Given the description of an element on the screen output the (x, y) to click on. 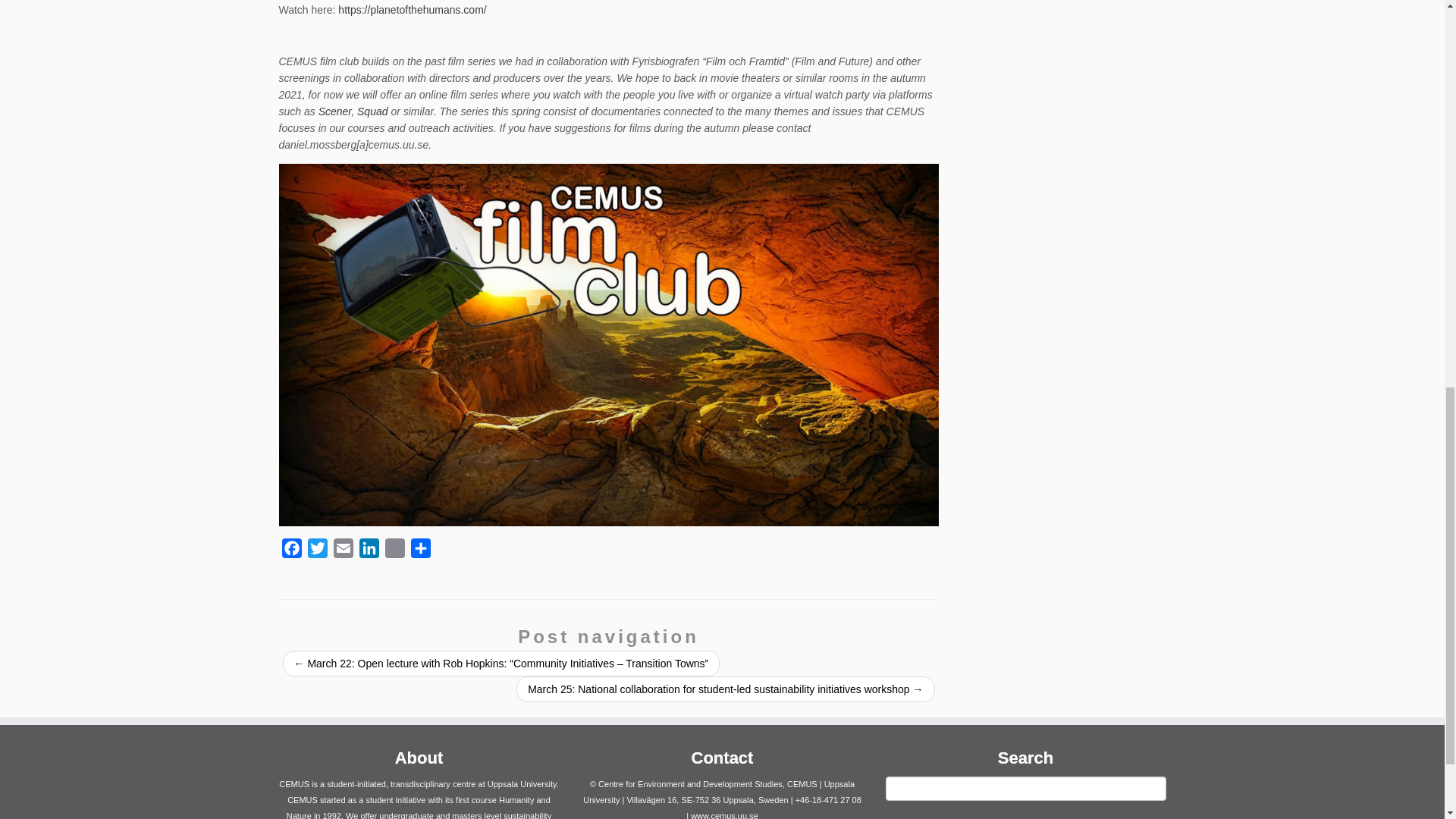
Print (394, 551)
Twitter (317, 551)
LinkedIn (368, 551)
Facebook (291, 551)
Email (343, 551)
